Given the description of an element on the screen output the (x, y) to click on. 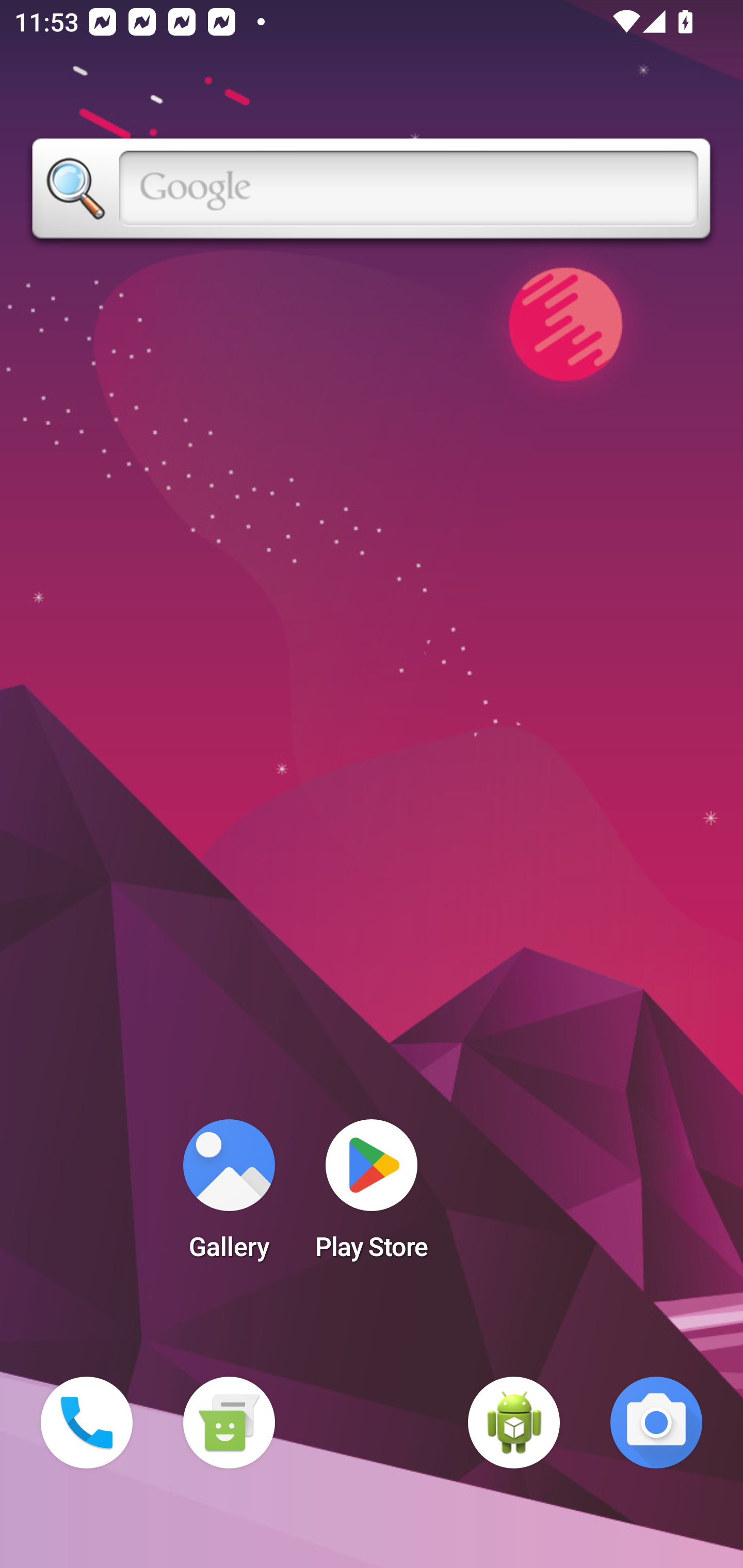
Gallery (228, 1195)
Play Store (371, 1195)
Phone (86, 1422)
Messaging (228, 1422)
WebView Browser Tester (513, 1422)
Camera (656, 1422)
